Given the description of an element on the screen output the (x, y) to click on. 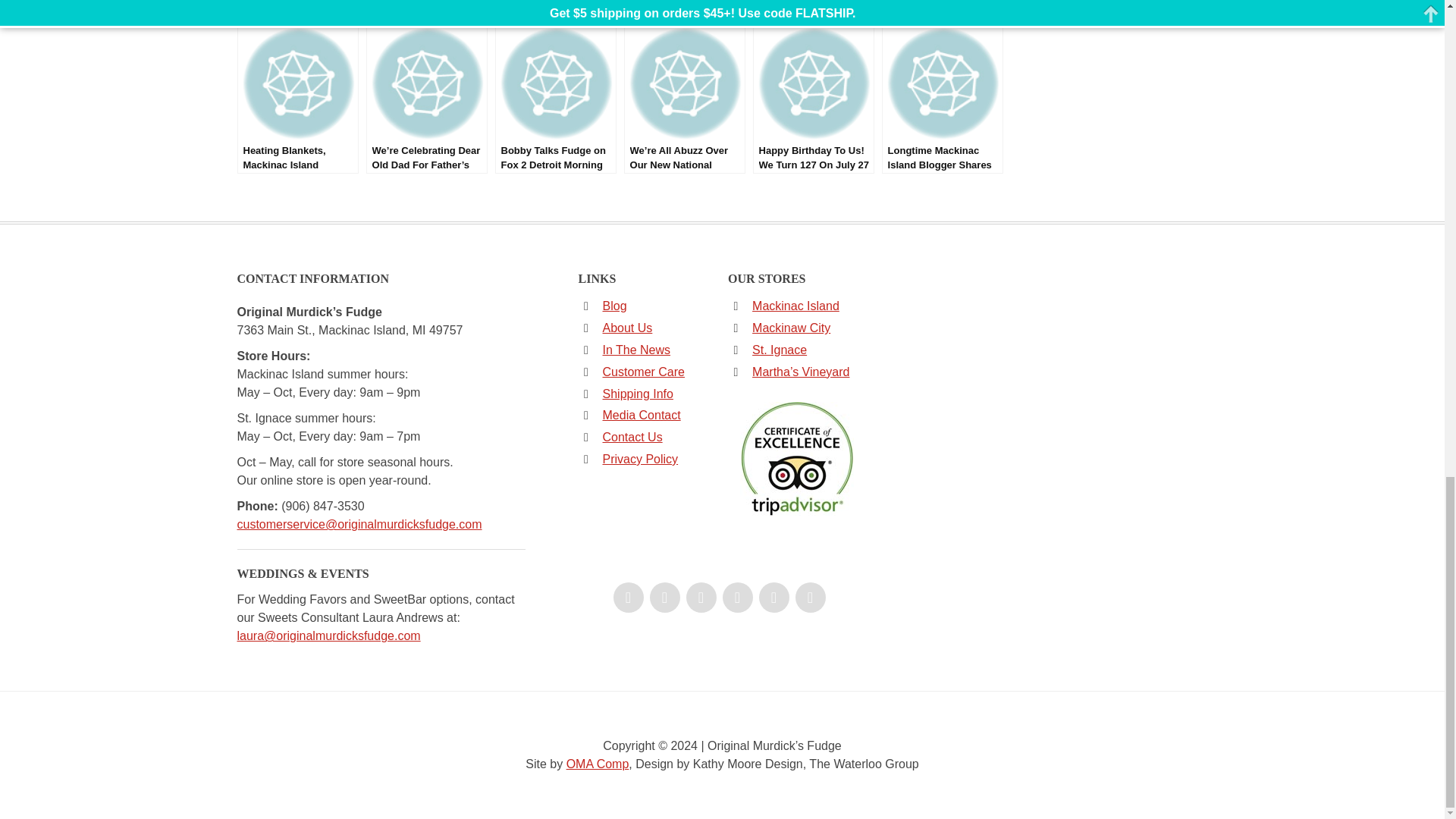
Twitter (664, 597)
Pinterest (809, 597)
Facebook (627, 597)
Instagram (700, 597)
Trip Advisor (773, 597)
YouTube (737, 597)
